Given the description of an element on the screen output the (x, y) to click on. 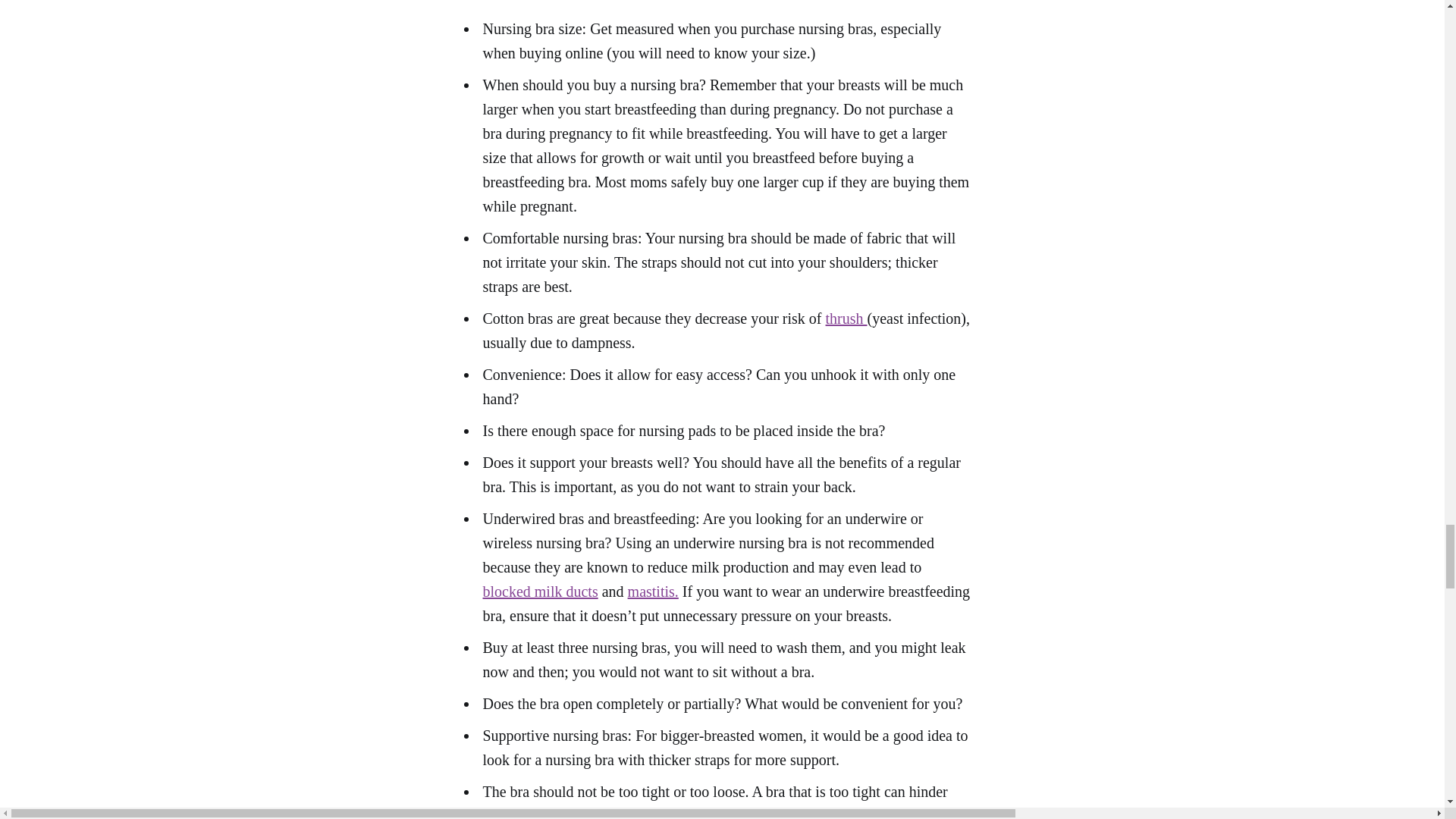
thrush (846, 318)
blocked milk ducts (538, 591)
mastitis. (652, 591)
